Given the description of an element on the screen output the (x, y) to click on. 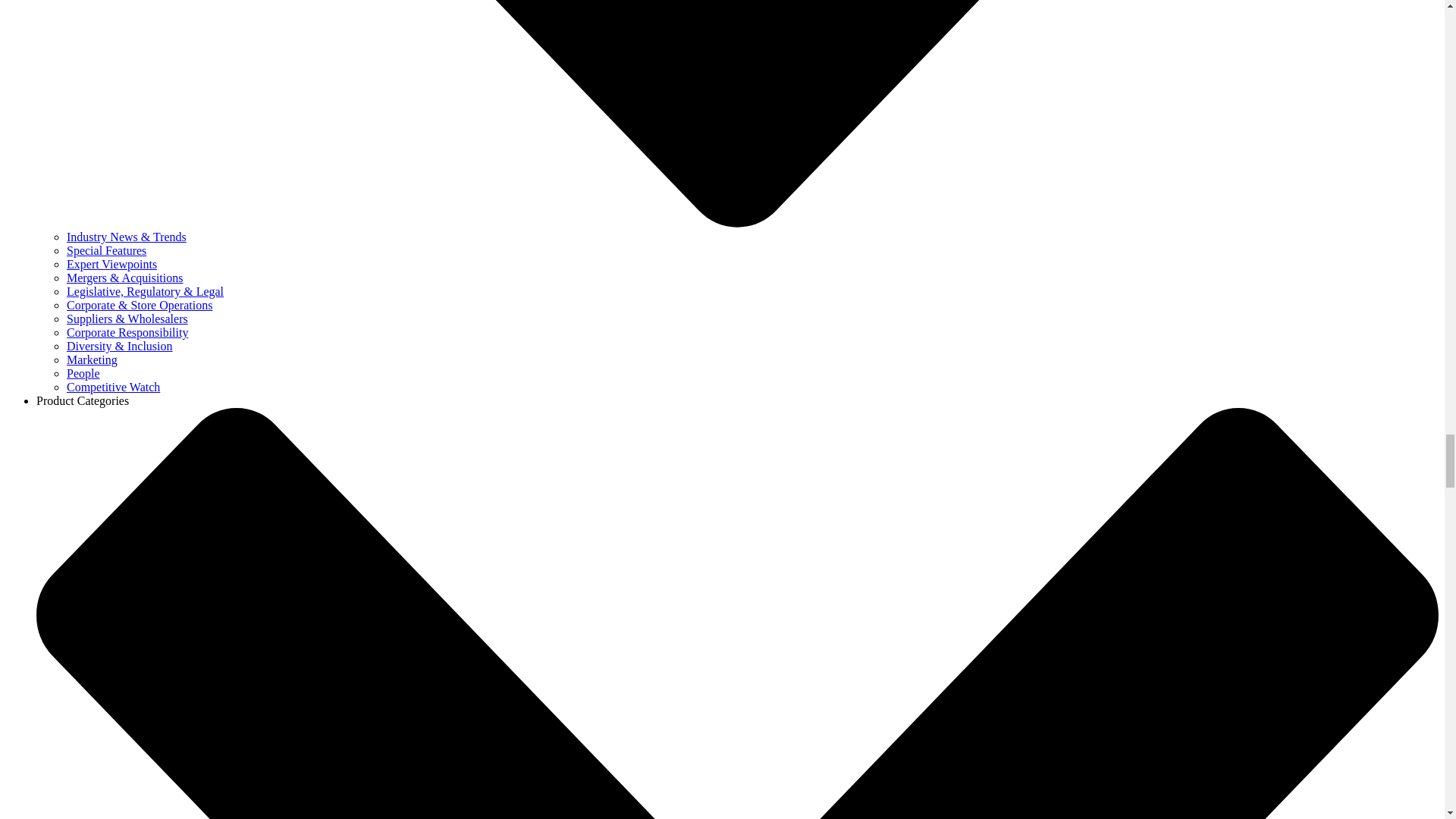
People (83, 373)
Marketing (91, 359)
Product Categories (82, 400)
Expert Viewpoints (111, 264)
Special Features (106, 250)
Corporate Responsibility (126, 332)
Competitive Watch (113, 386)
